Given the description of an element on the screen output the (x, y) to click on. 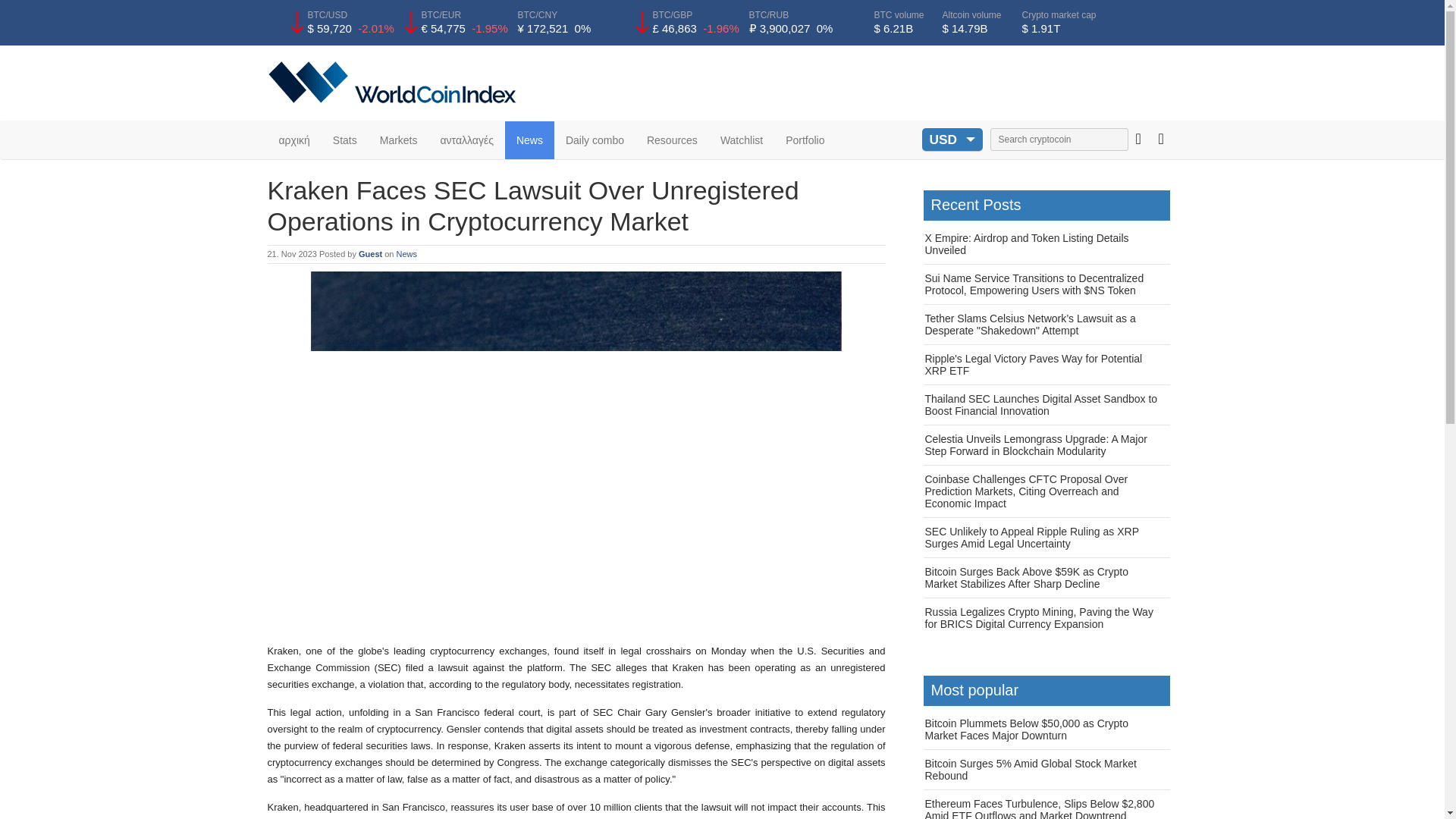
Stats (344, 139)
Worldcoinindex (393, 81)
Markets (398, 139)
